Given the description of an element on the screen output the (x, y) to click on. 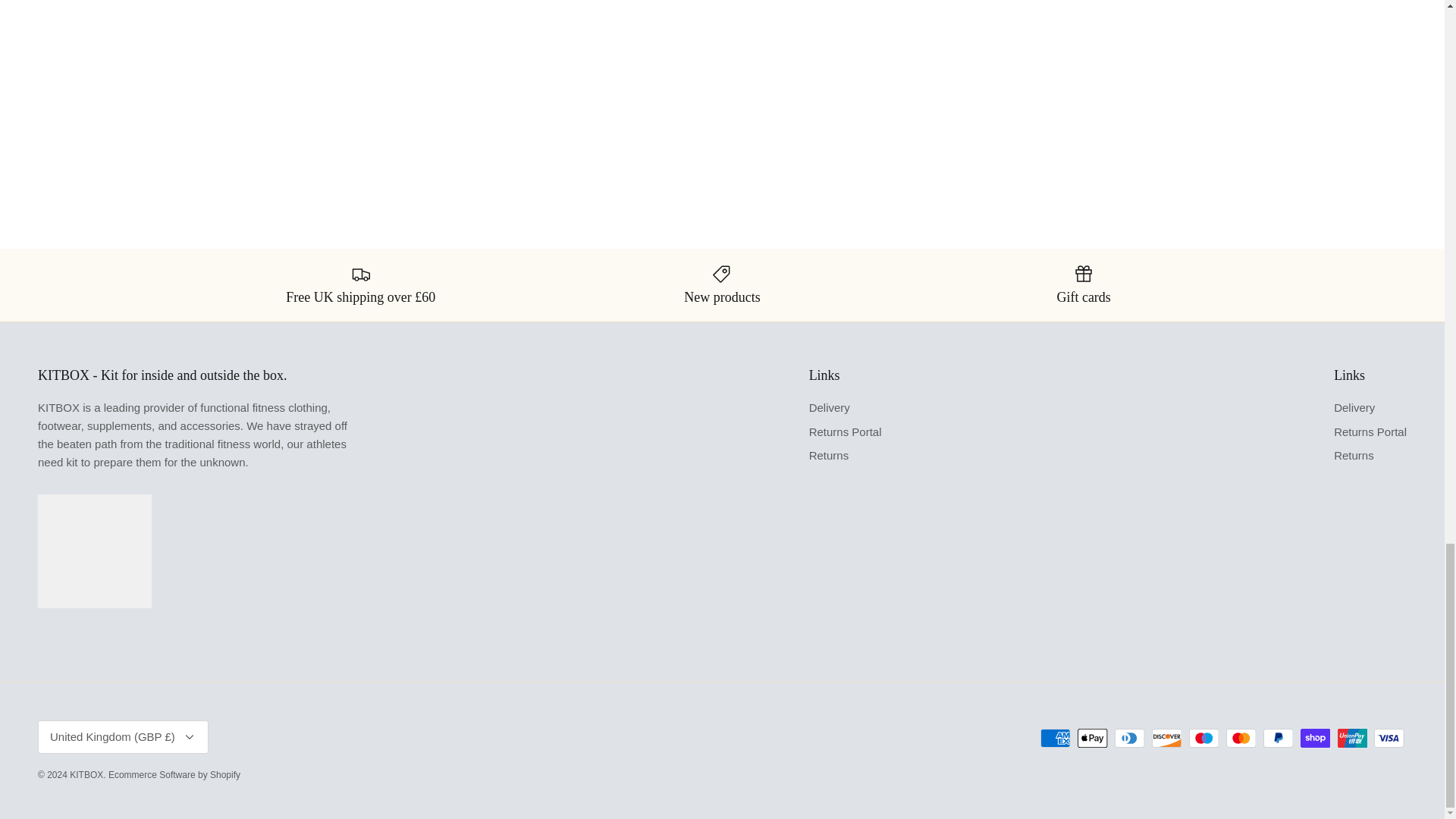
Diners Club (1129, 737)
Visa (1388, 737)
Mastercard (1240, 737)
PayPal (1277, 737)
Apple Pay (1092, 737)
American Express (1055, 737)
Shop Pay (1315, 737)
Union Pay (1352, 737)
Maestro (1203, 737)
Discover (1166, 737)
